Given the description of an element on the screen output the (x, y) to click on. 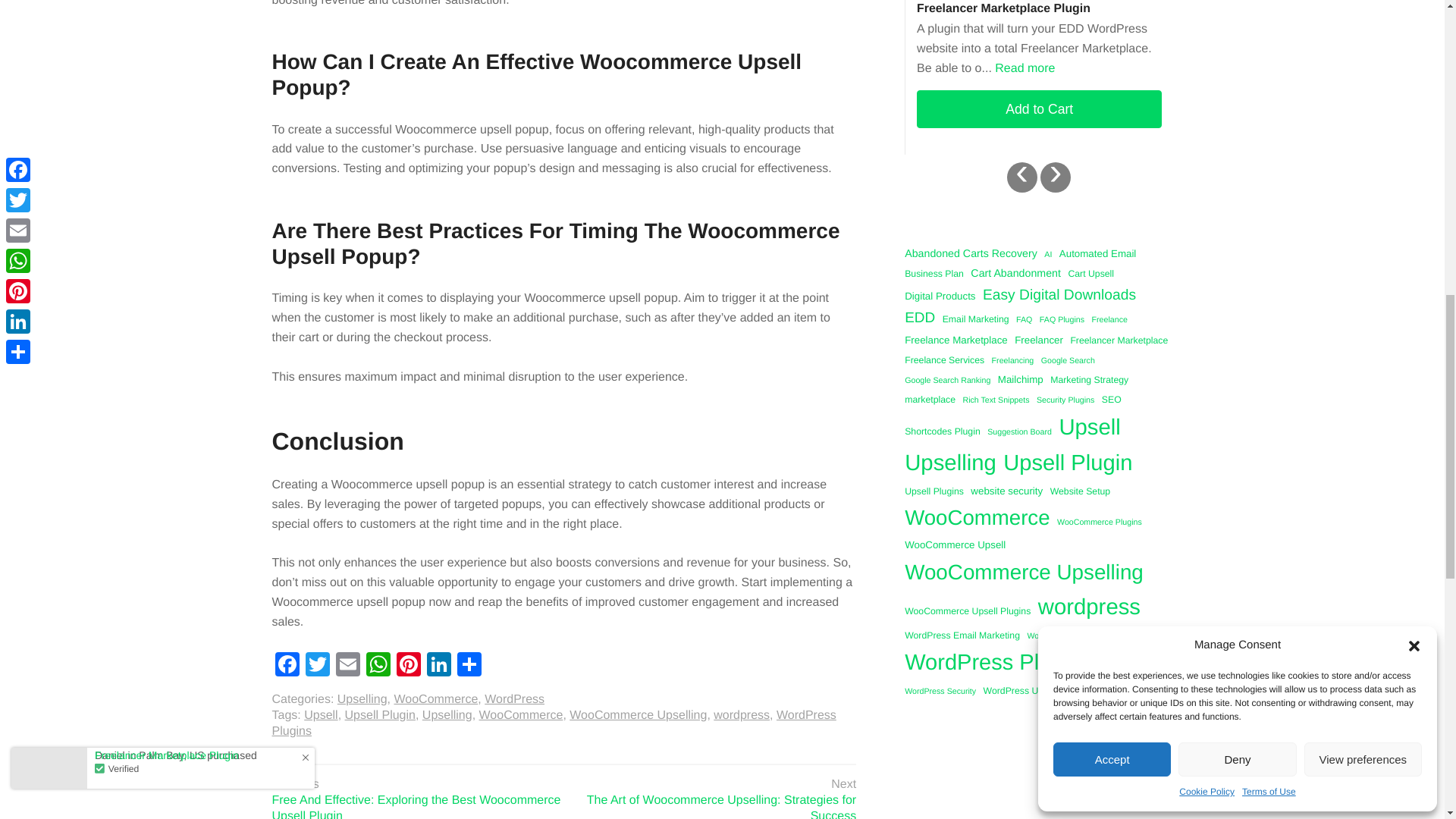
LinkedIn (437, 665)
Freelancer Marketplace Plugin (1039, 8)
Facebook (285, 665)
Pinterest (408, 665)
Email (346, 665)
WhatsApp (377, 665)
Twitter (316, 665)
